Given the description of an element on the screen output the (x, y) to click on. 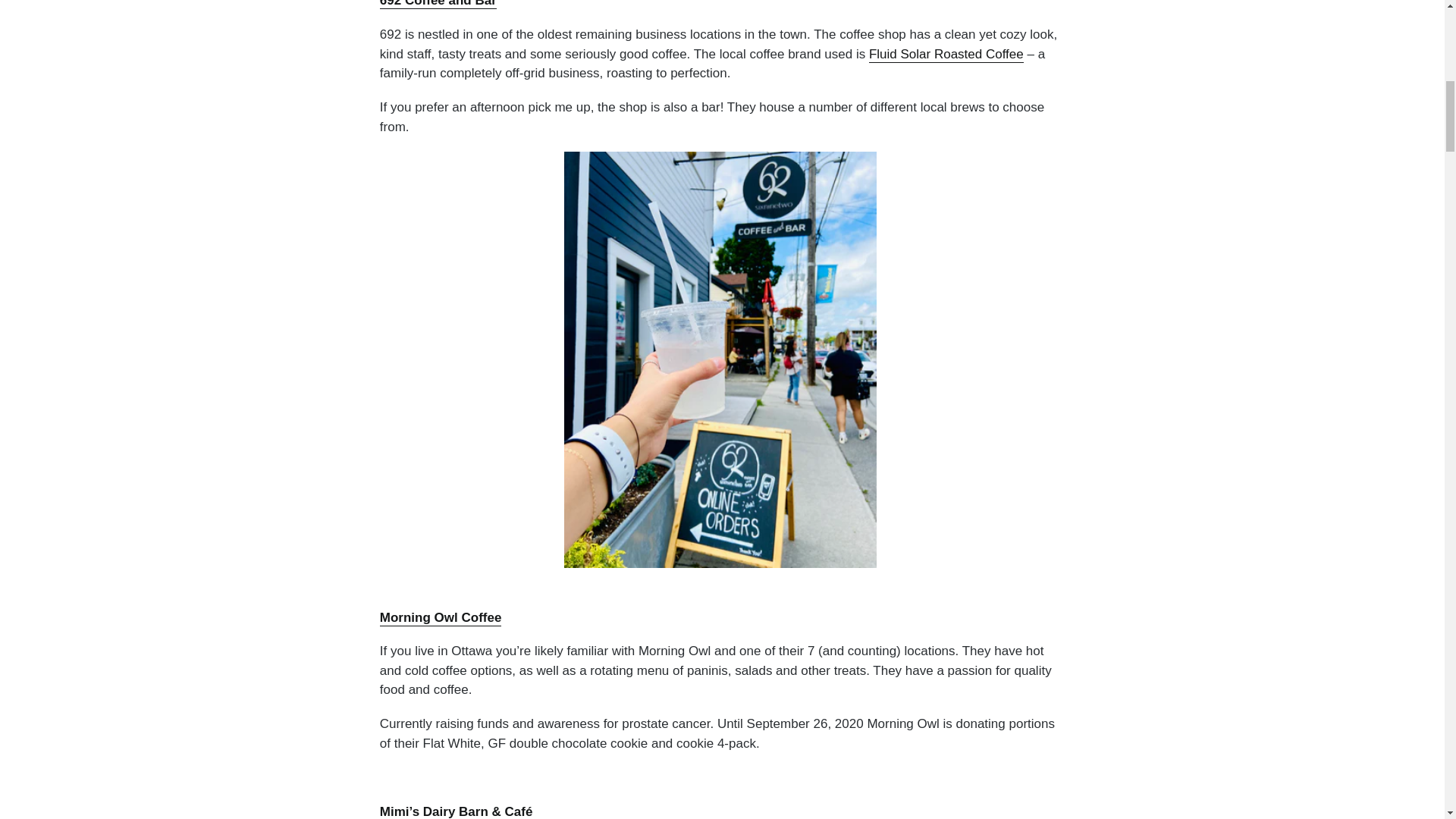
Fluid Solar Roasted Coffee (946, 54)
Fluid Solar Roasted Coffee Ontario (946, 54)
692 Coffee and Bar (438, 4)
Morning Owl Coffee (441, 618)
